Given the description of an element on the screen output the (x, y) to click on. 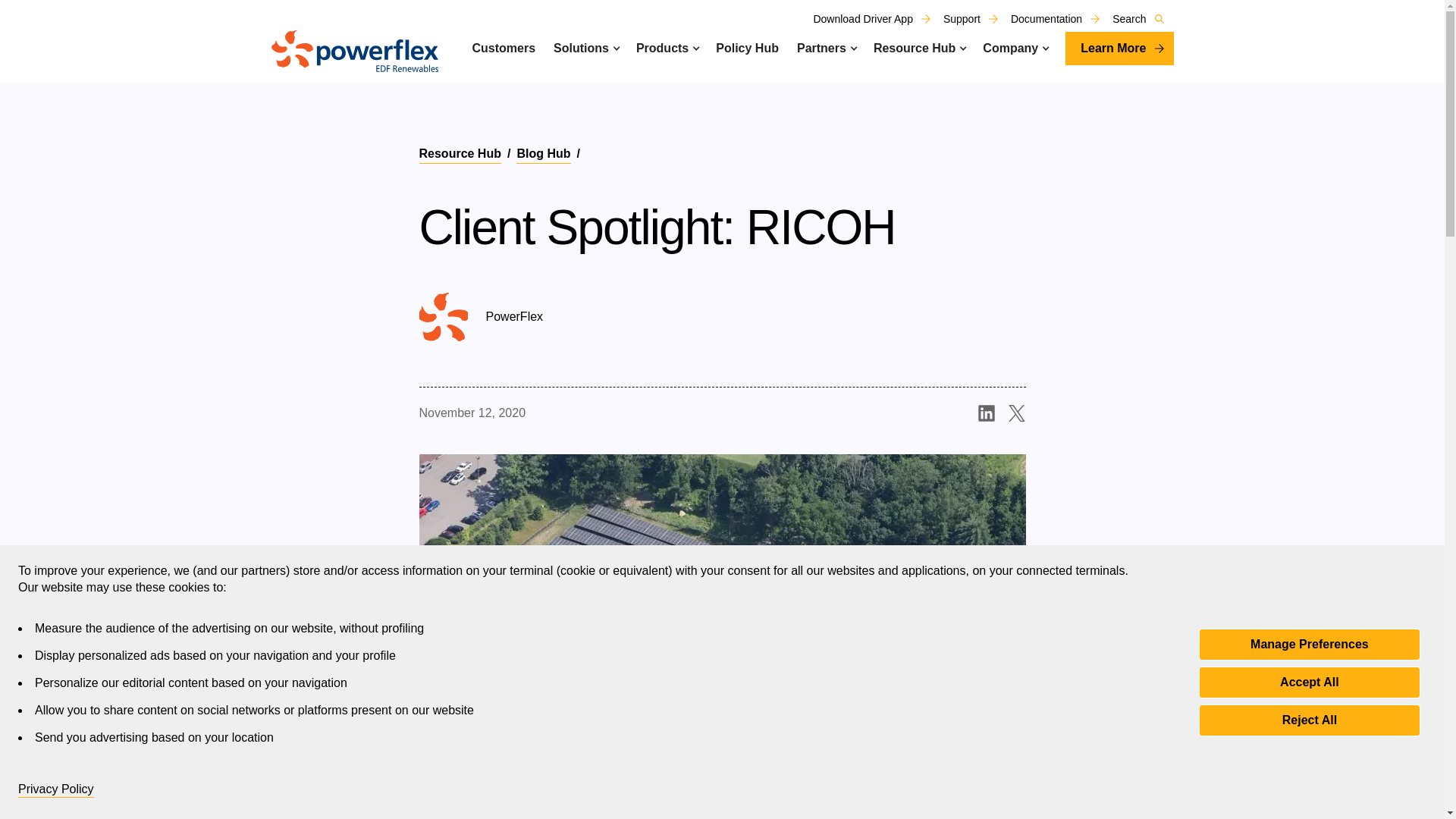
Reject All (1309, 719)
Accept All (1309, 681)
Support (975, 19)
Manage Preferences (1309, 644)
Download Driver App (876, 19)
Search (1142, 19)
Customers (503, 48)
Documentation (1059, 19)
Privacy Policy (55, 789)
